Given the description of an element on the screen output the (x, y) to click on. 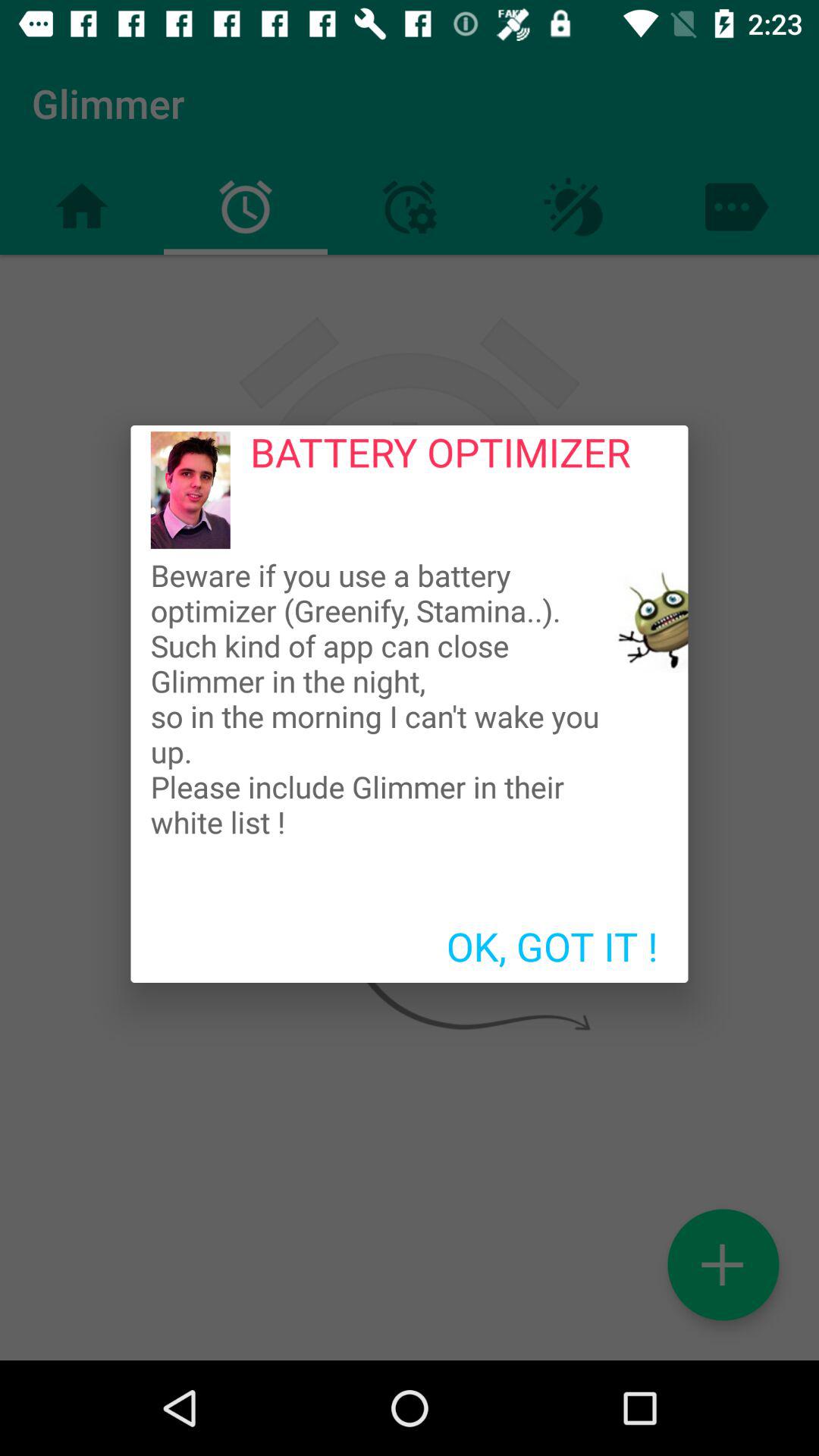
press the icon below beware if you icon (552, 945)
